Given the description of an element on the screen output the (x, y) to click on. 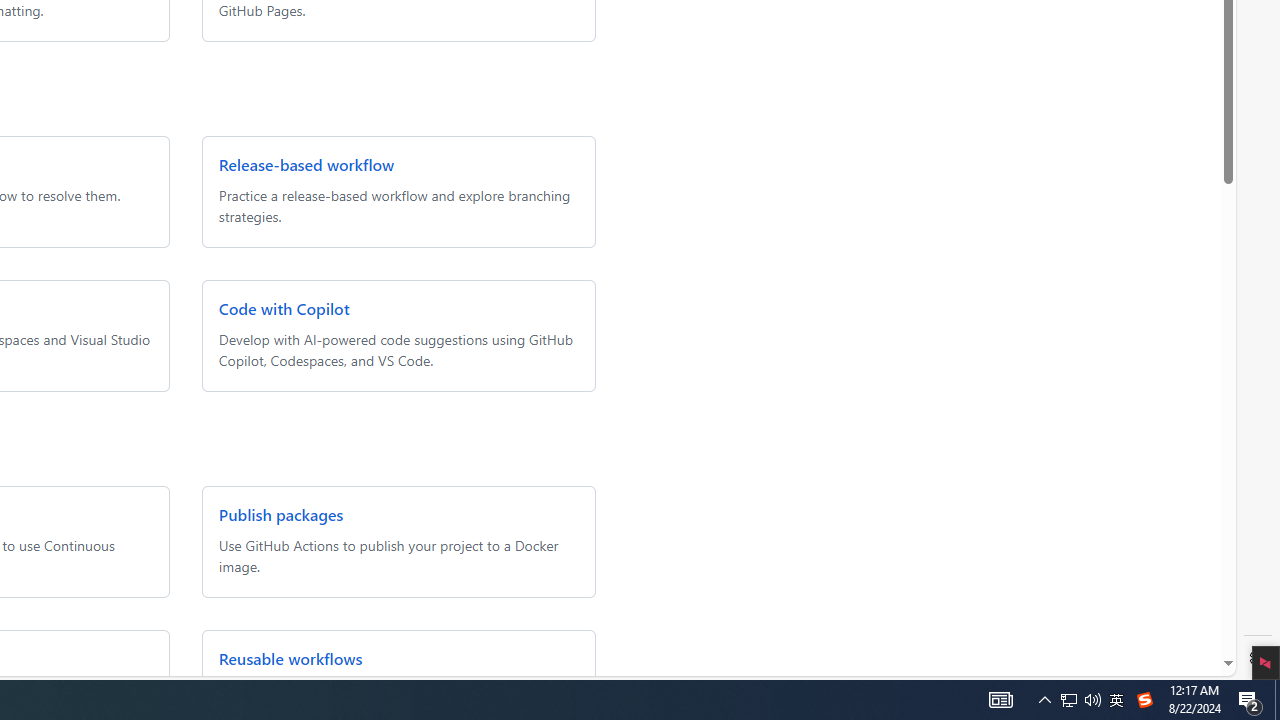
Publish packages (280, 513)
Reusable workflows (290, 658)
Release-based workflow (306, 164)
Code with Copilot (283, 308)
